Given the description of an element on the screen output the (x, y) to click on. 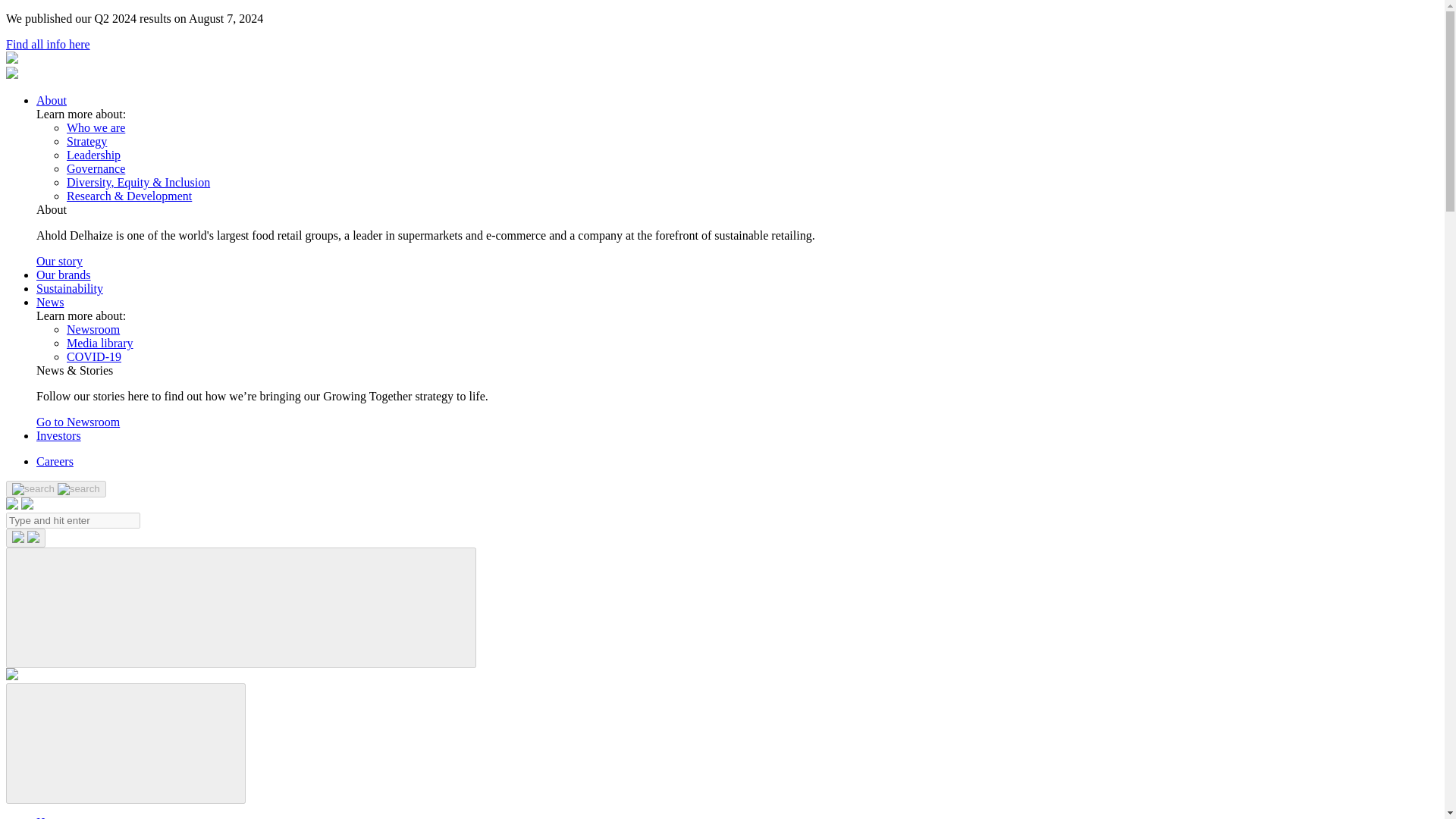
Home (50, 817)
Who we are (95, 127)
About (51, 100)
Newsroom (92, 328)
Investors (58, 435)
News (50, 301)
Our story (59, 260)
Governance (95, 168)
COVID-19 (93, 356)
Strategy (86, 141)
